Given the description of an element on the screen output the (x, y) to click on. 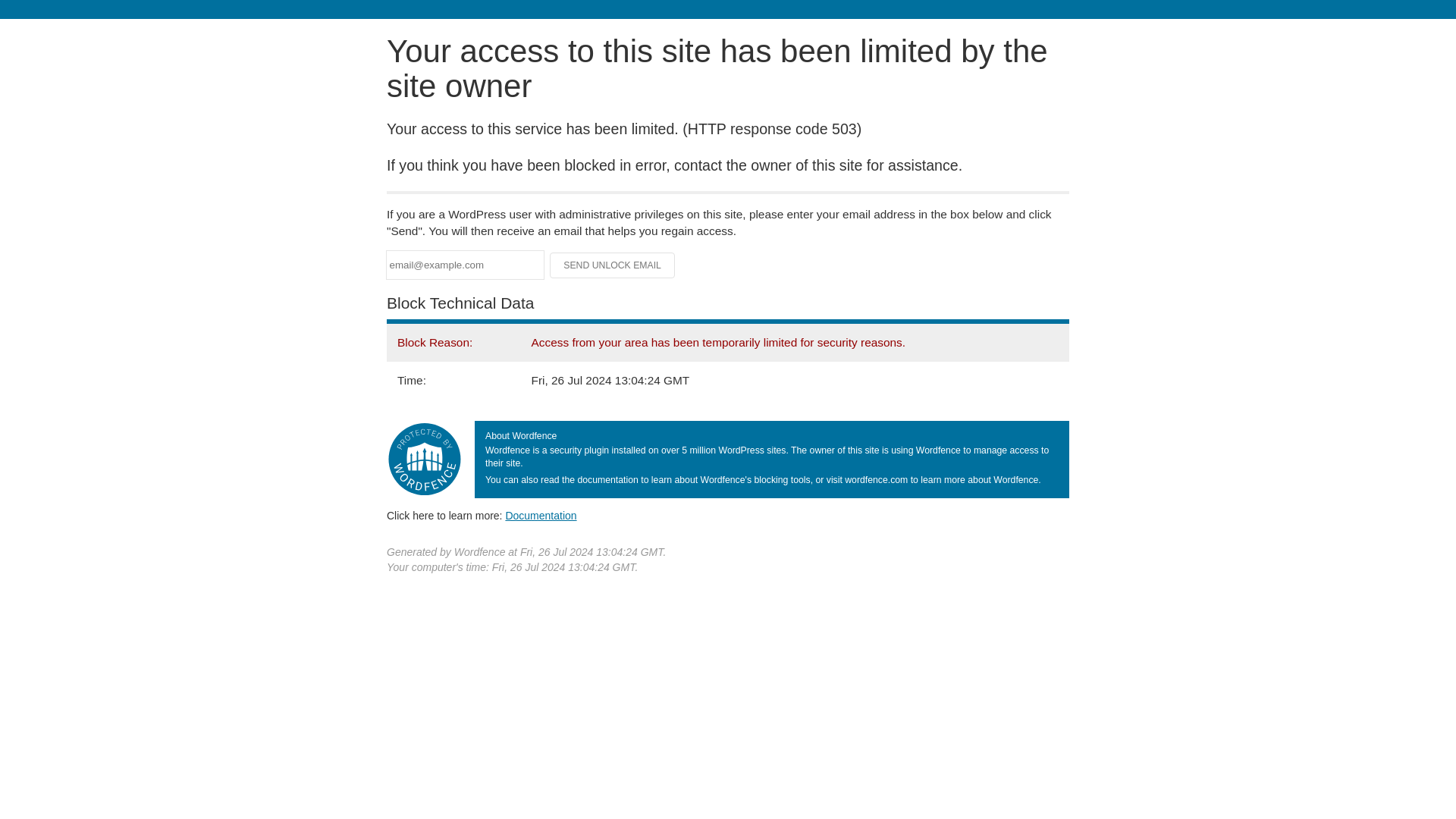
Documentation (540, 515)
Send Unlock Email (612, 265)
Send Unlock Email (612, 265)
